Given the description of an element on the screen output the (x, y) to click on. 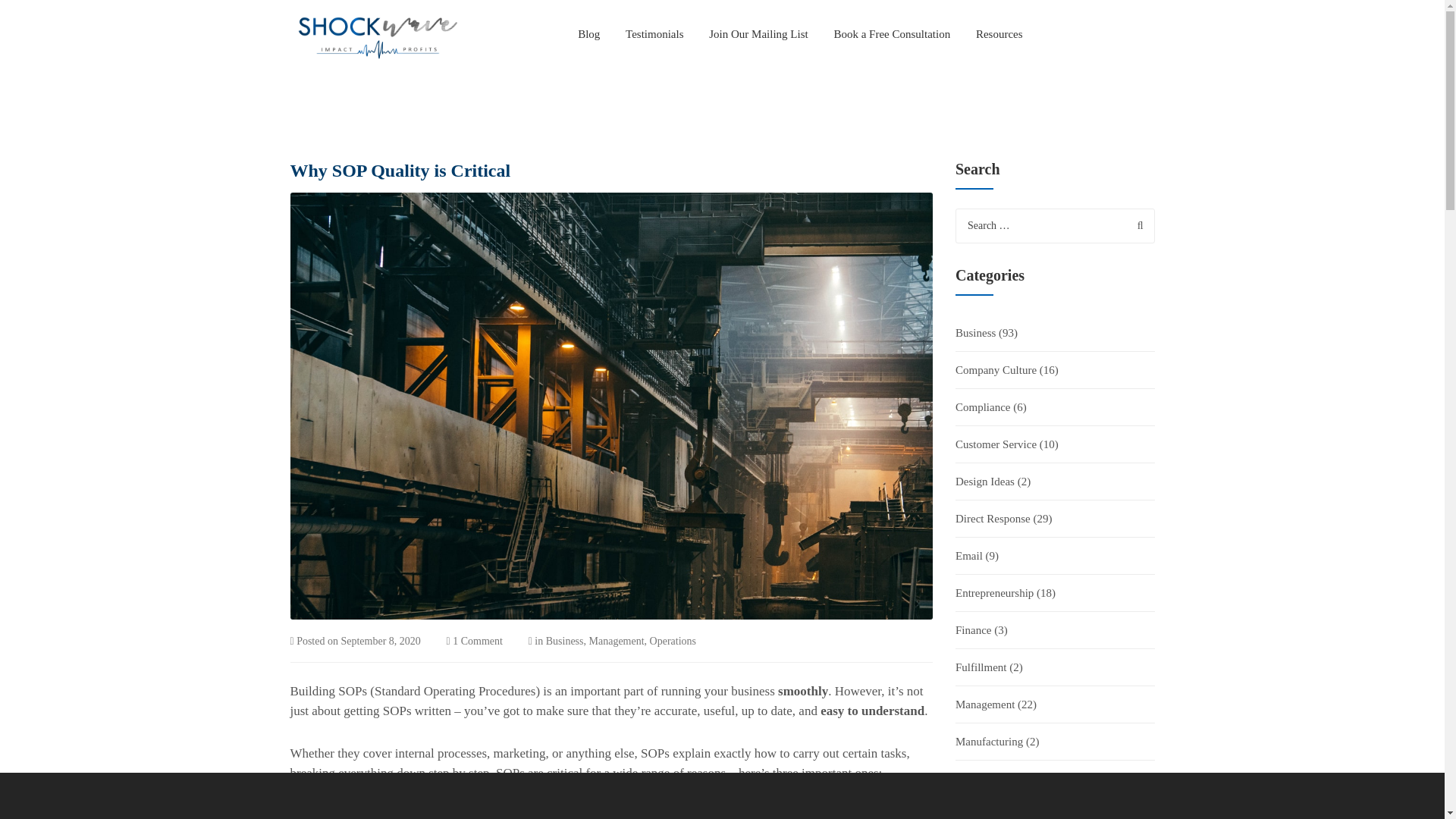
Book a Free Consultation (891, 33)
1 Comment (477, 641)
Company Culture (995, 370)
Business (975, 332)
Operations (672, 641)
Business (564, 641)
Book (891, 33)
Search (1139, 224)
September 8, 2020 (380, 641)
Management (617, 641)
